Given the description of an element on the screen output the (x, y) to click on. 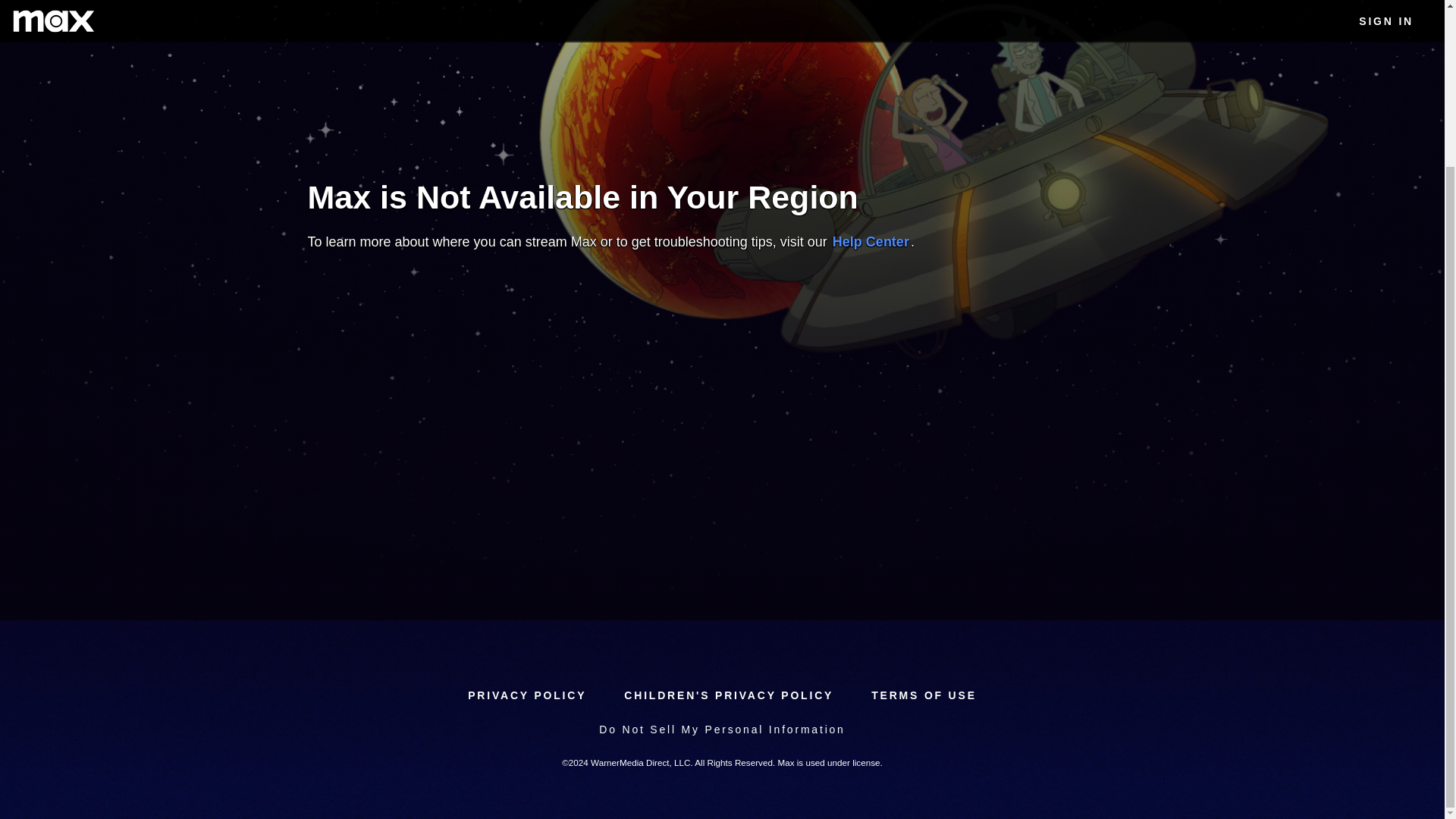
Do Not Sell My Personal Information (721, 729)
PRIVACY POLICY (526, 695)
Help Center (871, 241)
TERMS OF USE (923, 695)
CHILDREN'S PRIVACY POLICY (728, 695)
